Given the description of an element on the screen output the (x, y) to click on. 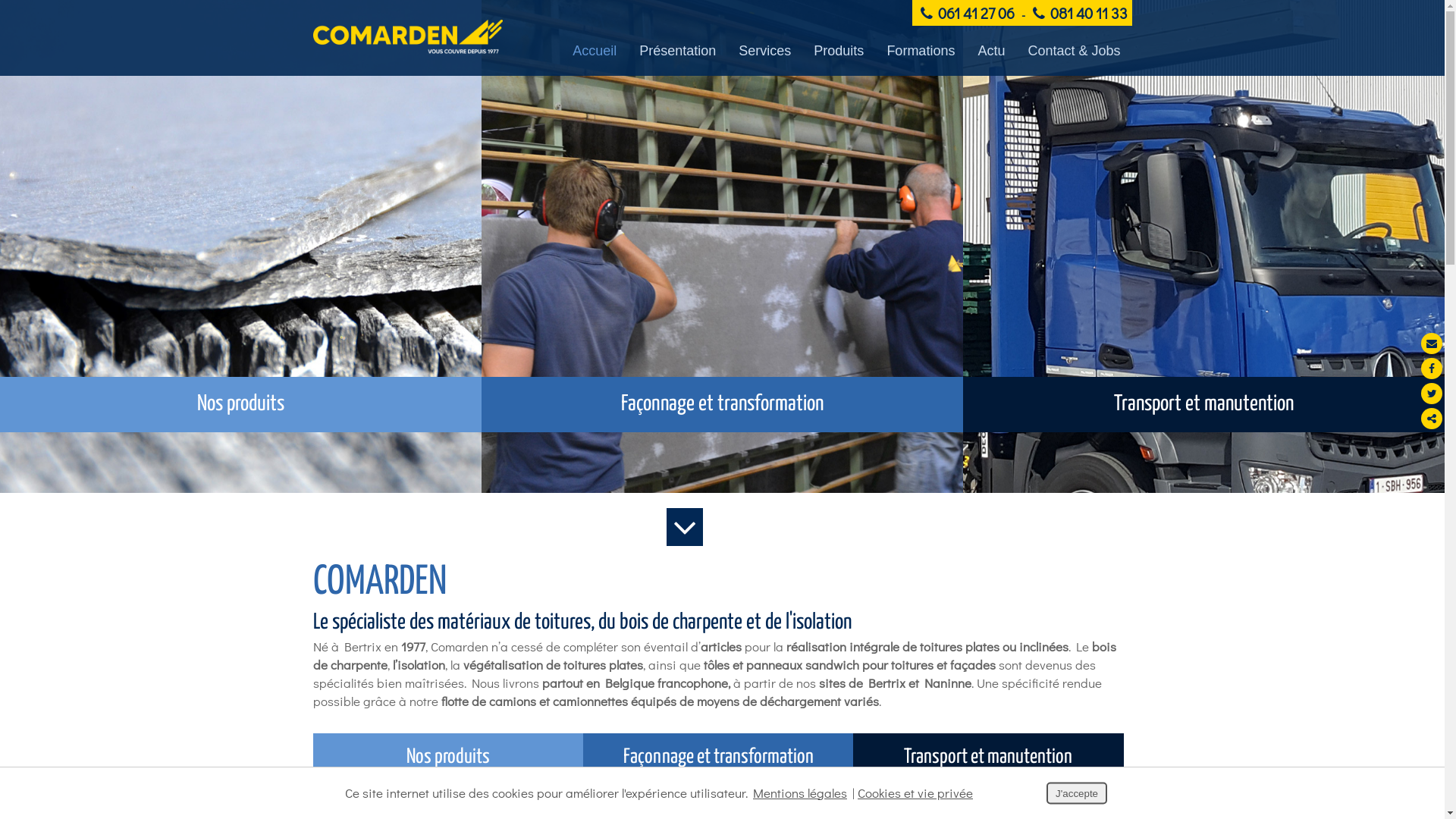
Comarden Element type: hover (407, 37)
Contact & Jobs Element type: text (1073, 50)
Nos produits Element type: text (447, 757)
Nos produits Element type: text (240, 246)
Services Element type: text (764, 50)
Actu Element type: text (990, 50)
Formations Element type: text (920, 50)
Transport et manutention Element type: text (1203, 246)
Produits Element type: text (838, 50)
Accueil Element type: text (594, 50)
Transport et manutention Element type: text (988, 757)
061 41 27 06 - 081 40 11 33 Element type: text (1021, 12)
Partager ce contenu Element type: text (1431, 418)
